Given the description of an element on the screen output the (x, y) to click on. 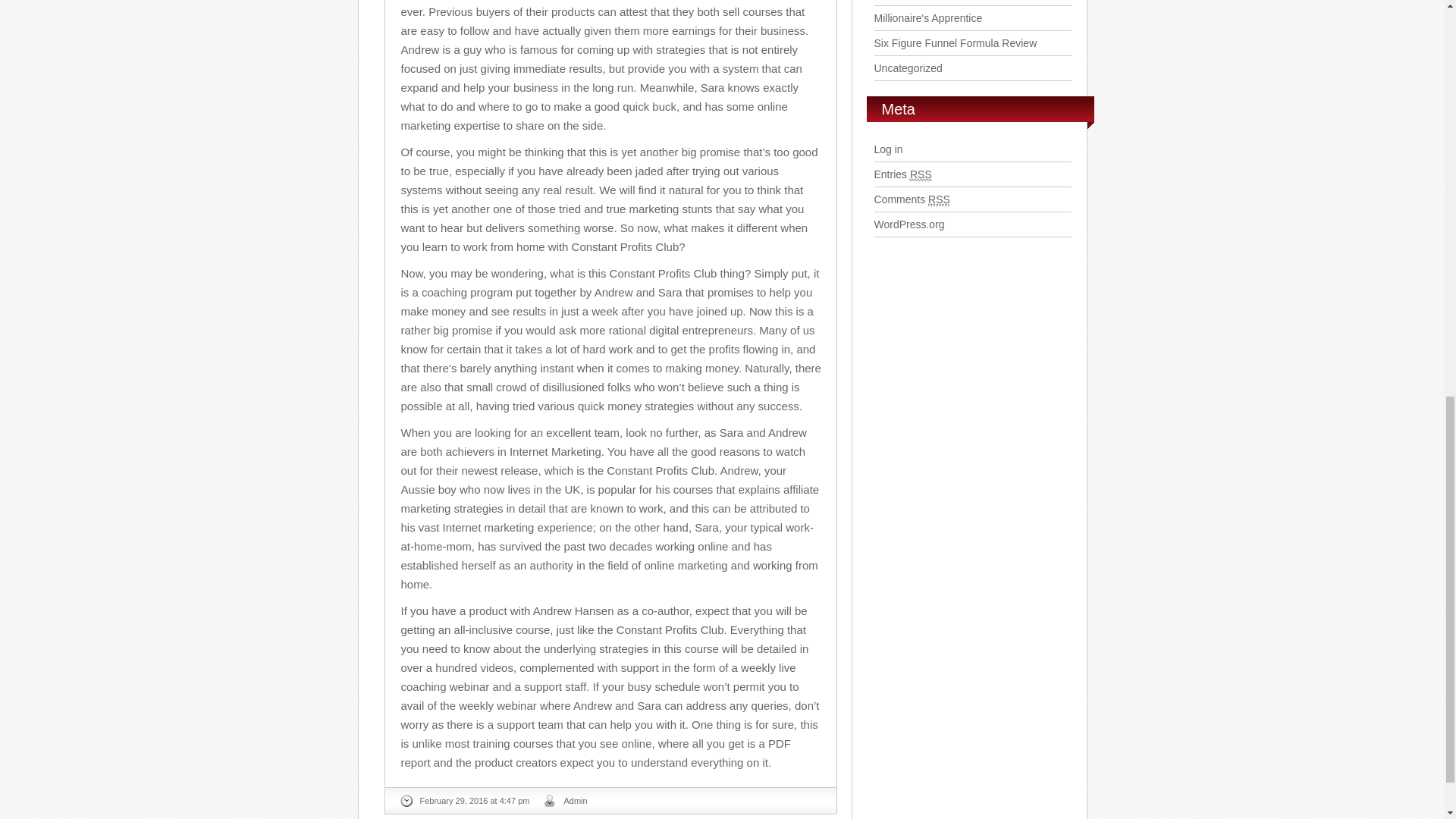
February 29, 2016 at 4:47 pm (474, 800)
WordPress.org (908, 224)
Uncategorized (907, 68)
The latest comments to all posts in RSS (911, 199)
Entries RSS (902, 174)
Syndicate this site using RSS 2.0 (902, 174)
View all posts filed under Millionaire's Apprentice (927, 18)
Comments RSS (911, 199)
Six Figure Funnel Formula Review (954, 42)
View all posts filed under Uncategorized (907, 68)
